Given the description of an element on the screen output the (x, y) to click on. 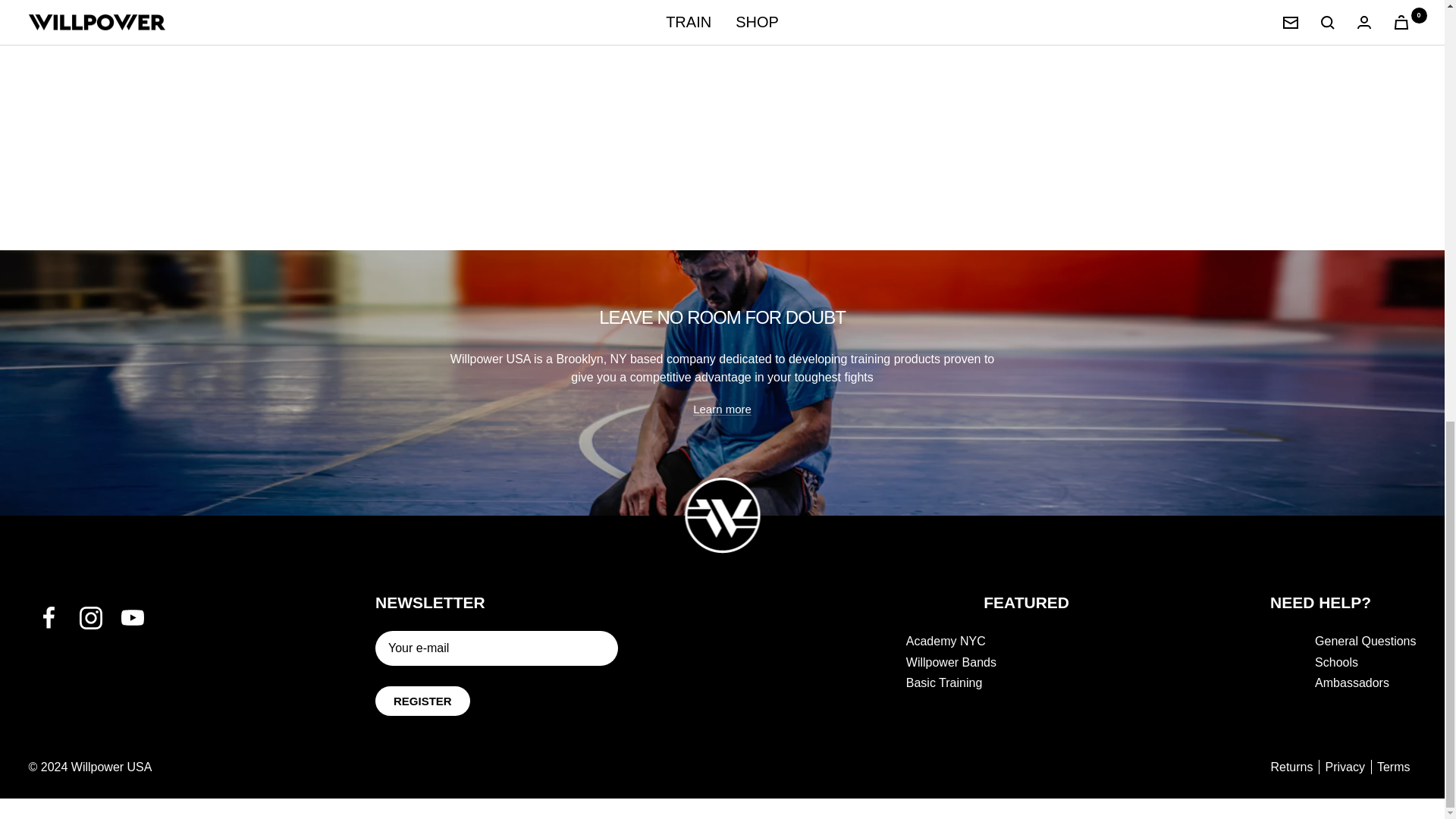
Learn more (722, 408)
REGISTER (422, 700)
Register (422, 700)
